Given the description of an element on the screen output the (x, y) to click on. 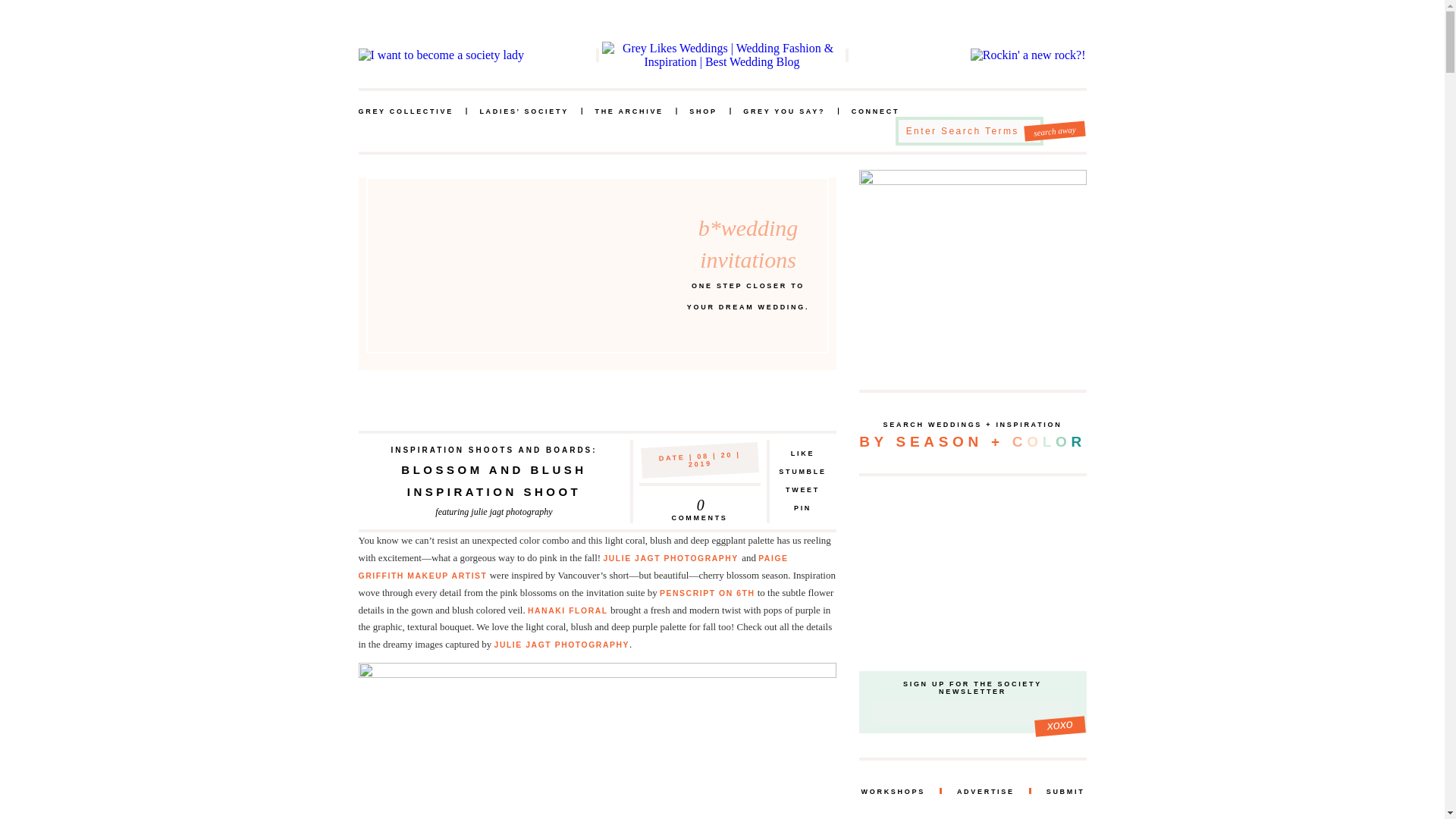
THE ARCHIVE (628, 112)
TWEET (801, 490)
STUMBLE (801, 472)
Search Away (699, 502)
JULIE JAGT PHOTOGRAPHY (1053, 128)
INSPIRATION SHOOTS AND BOARDS: (671, 558)
PENSCRIPT ON 6TH (493, 449)
SHOP (706, 592)
PIN (702, 112)
